Given the description of an element on the screen output the (x, y) to click on. 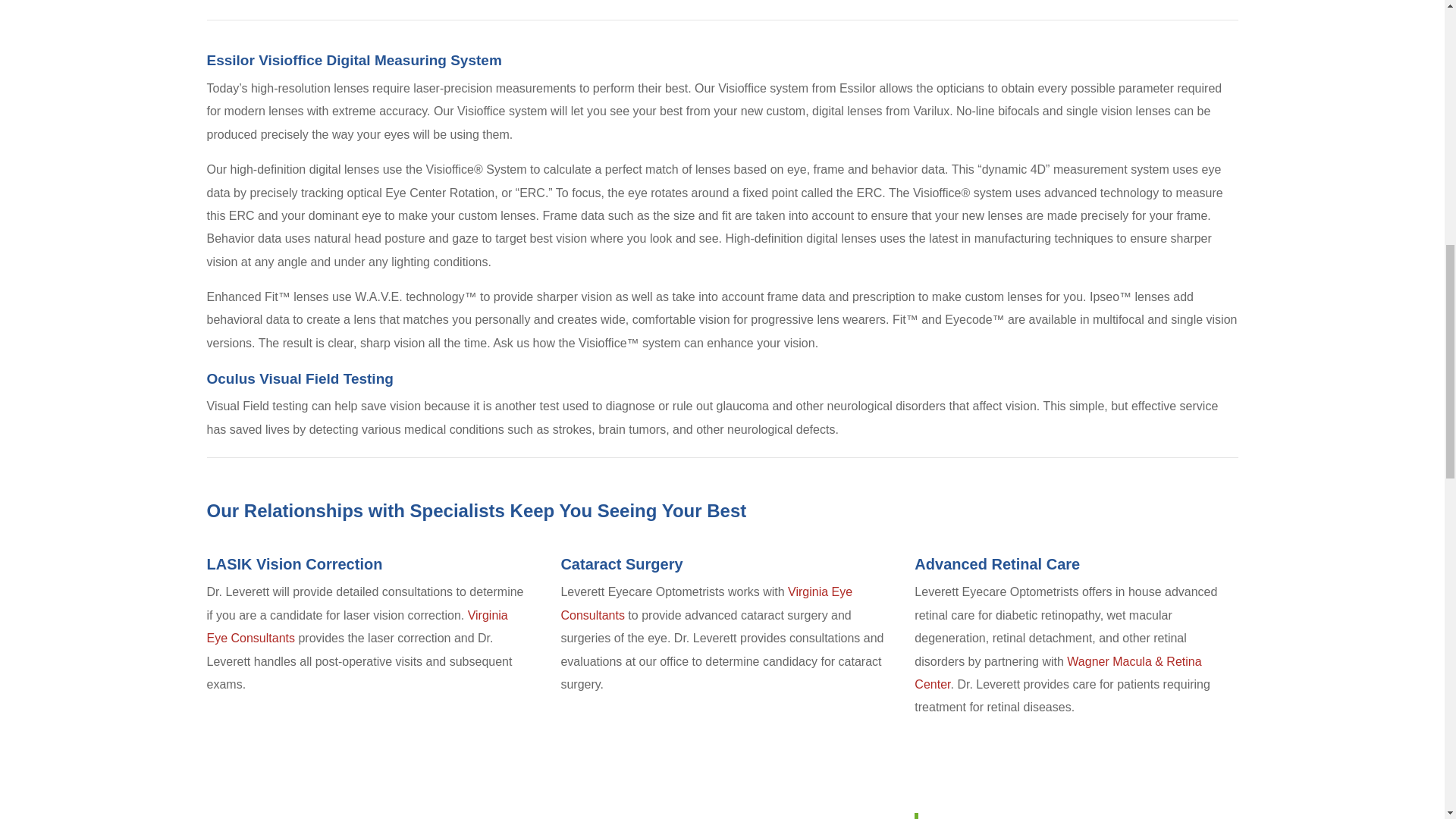
Virginia Eye Consultants (356, 626)
Virginia Eye Consultants (705, 602)
Leverett Eyecare, P.C. (993, 818)
